Given the description of an element on the screen output the (x, y) to click on. 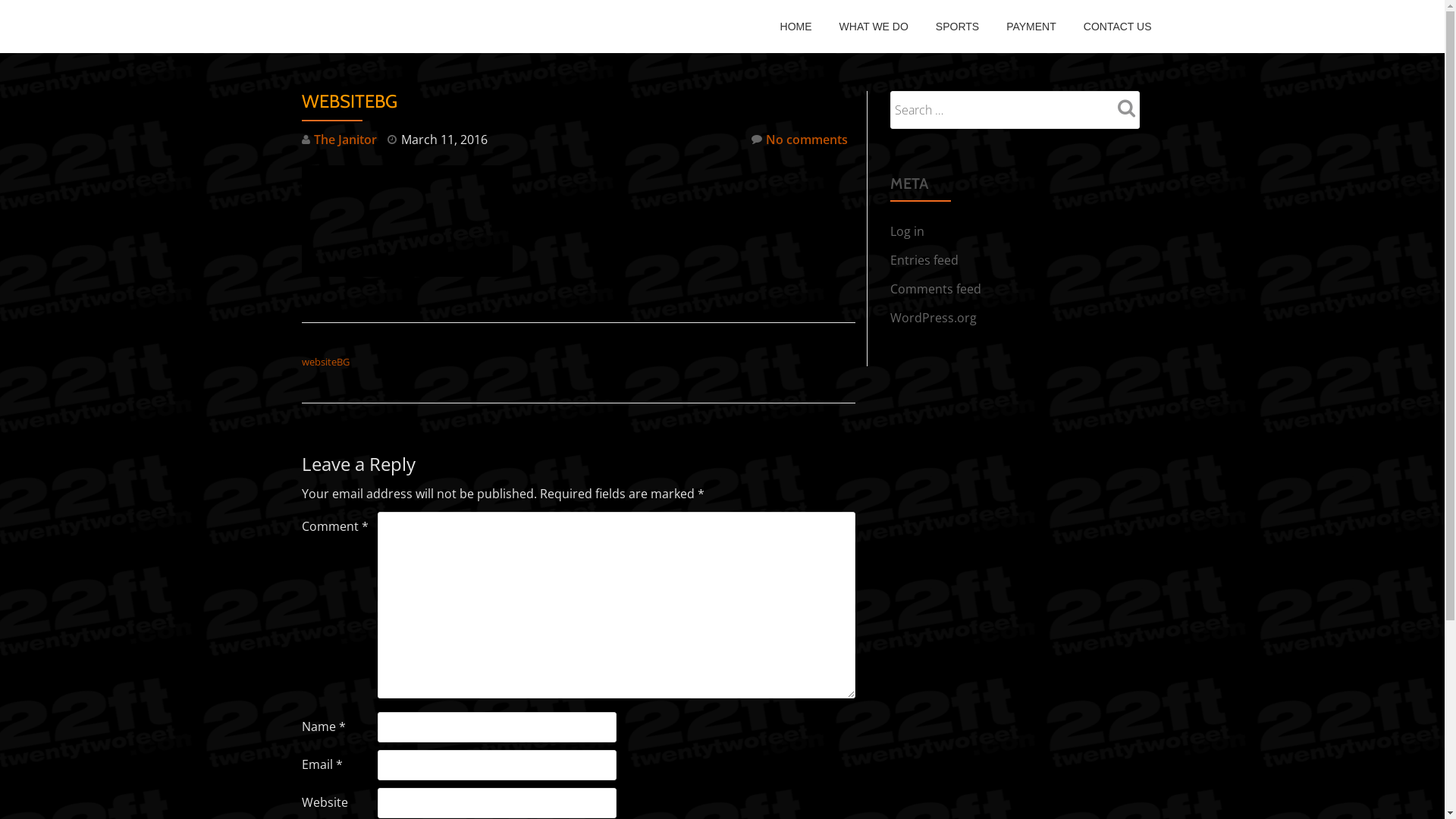
Comments feed Element type: text (935, 288)
WHAT WE DO Element type: text (873, 26)
No comments Element type: text (798, 139)
HOME Element type: text (796, 26)
websiteBG Element type: text (325, 361)
Entries feed Element type: text (924, 259)
22ft Element type: hover (313, 26)
The Janitor Element type: text (344, 139)
CONTACT US Element type: text (1117, 26)
Log in Element type: text (907, 230)
SPORTS Element type: text (957, 26)
Search Element type: text (1123, 107)
WordPress.org Element type: text (933, 317)
PAYMENT Element type: text (1031, 26)
